Given the description of an element on the screen output the (x, y) to click on. 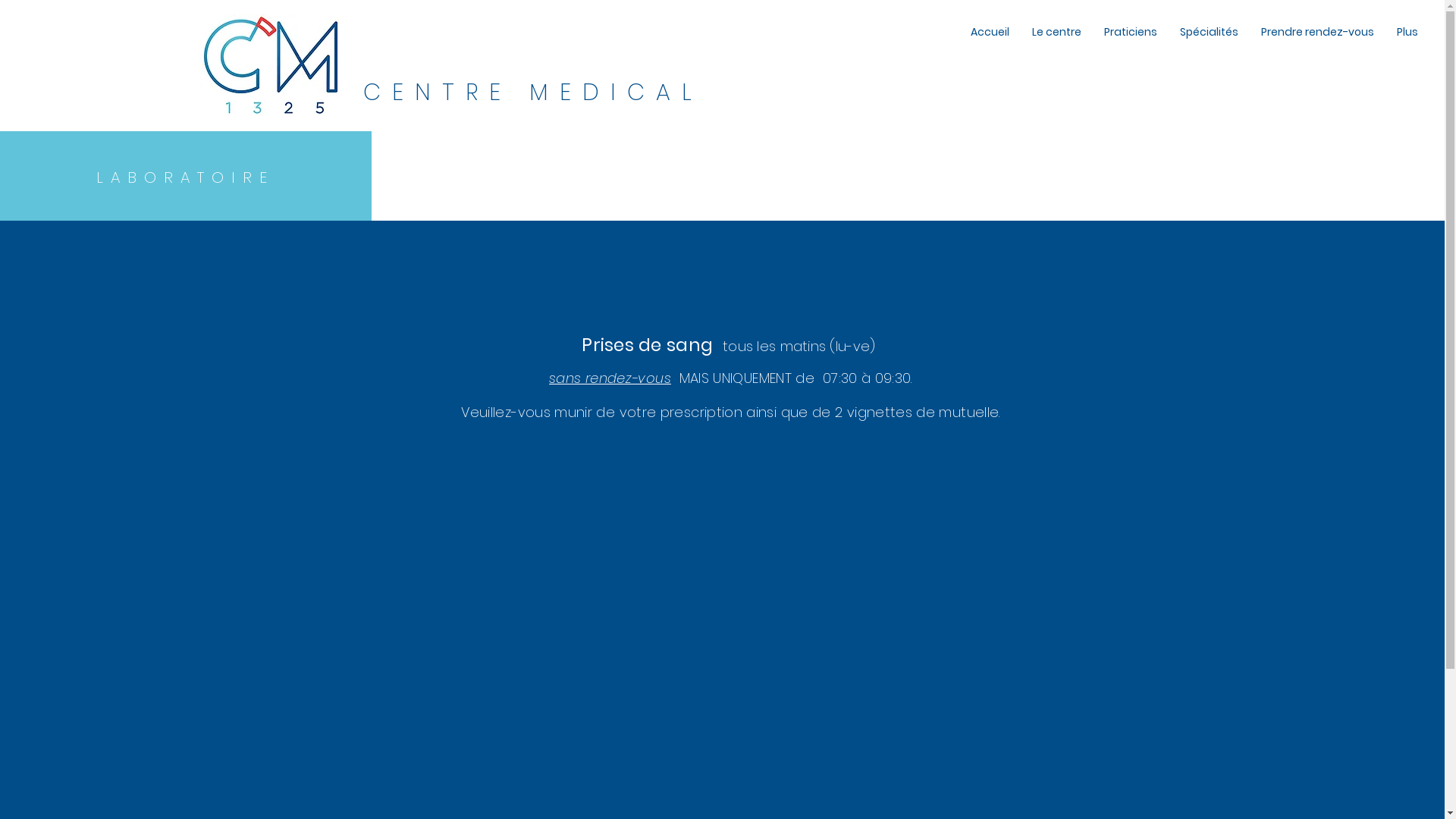
Prendre rendez-vous Element type: text (1317, 31)
Accueil Element type: text (989, 31)
Le centre Element type: text (1056, 31)
Praticiens Element type: text (1130, 31)
